Given the description of an element on the screen output the (x, y) to click on. 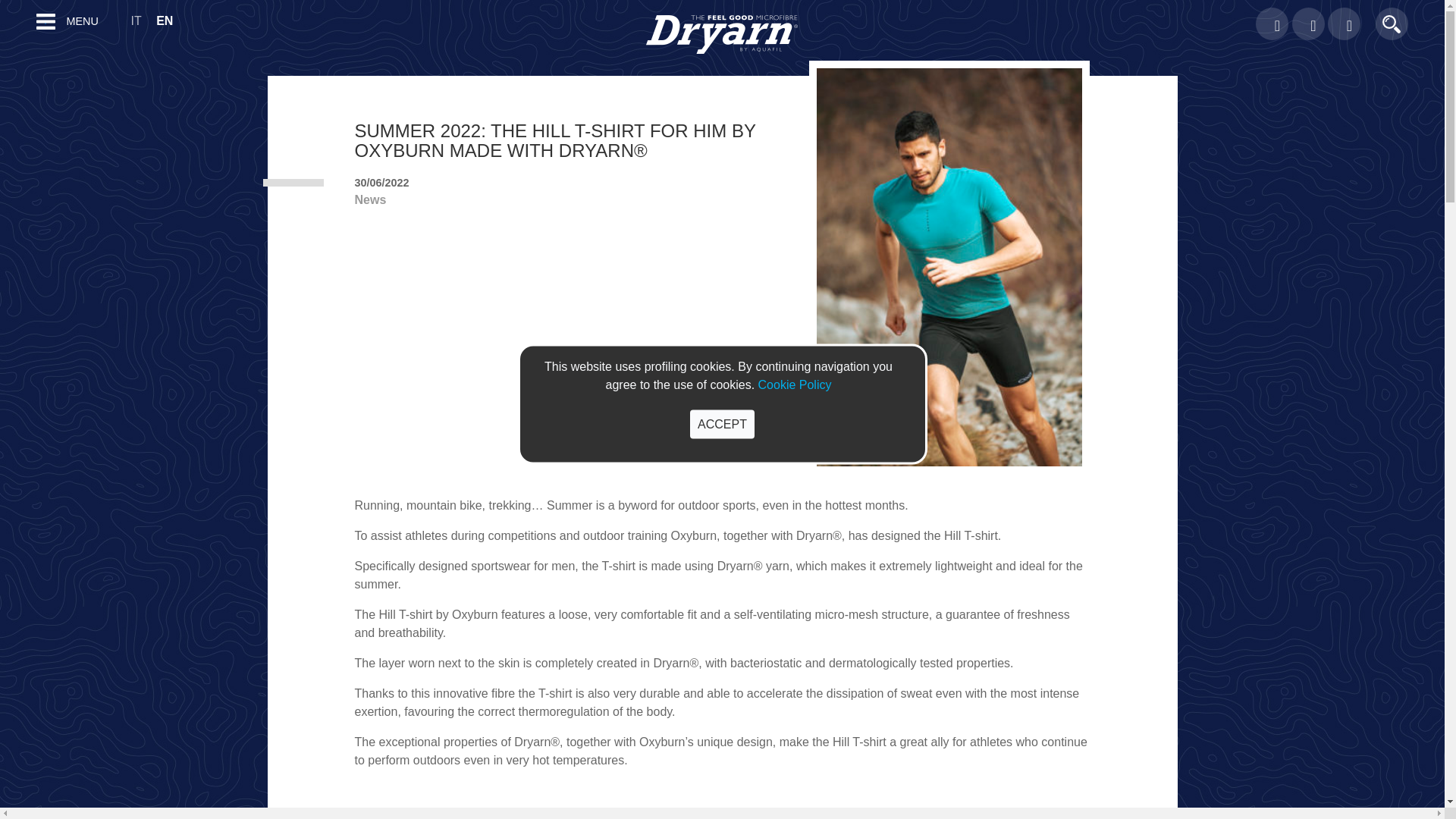
HOME (12, 52)
CYCLING (20, 188)
IT (141, 20)
HI-TECHNOLOGY (41, 583)
NATURE (18, 657)
News (369, 199)
INTERVIEWS (29, 633)
THE FIBRE (24, 77)
EN (169, 20)
ALL (5, 534)
RUNNING (21, 163)
EVENTS (18, 398)
CONTACTS (25, 102)
SAILING (17, 262)
FOOTBALL (24, 336)
